Given the description of an element on the screen output the (x, y) to click on. 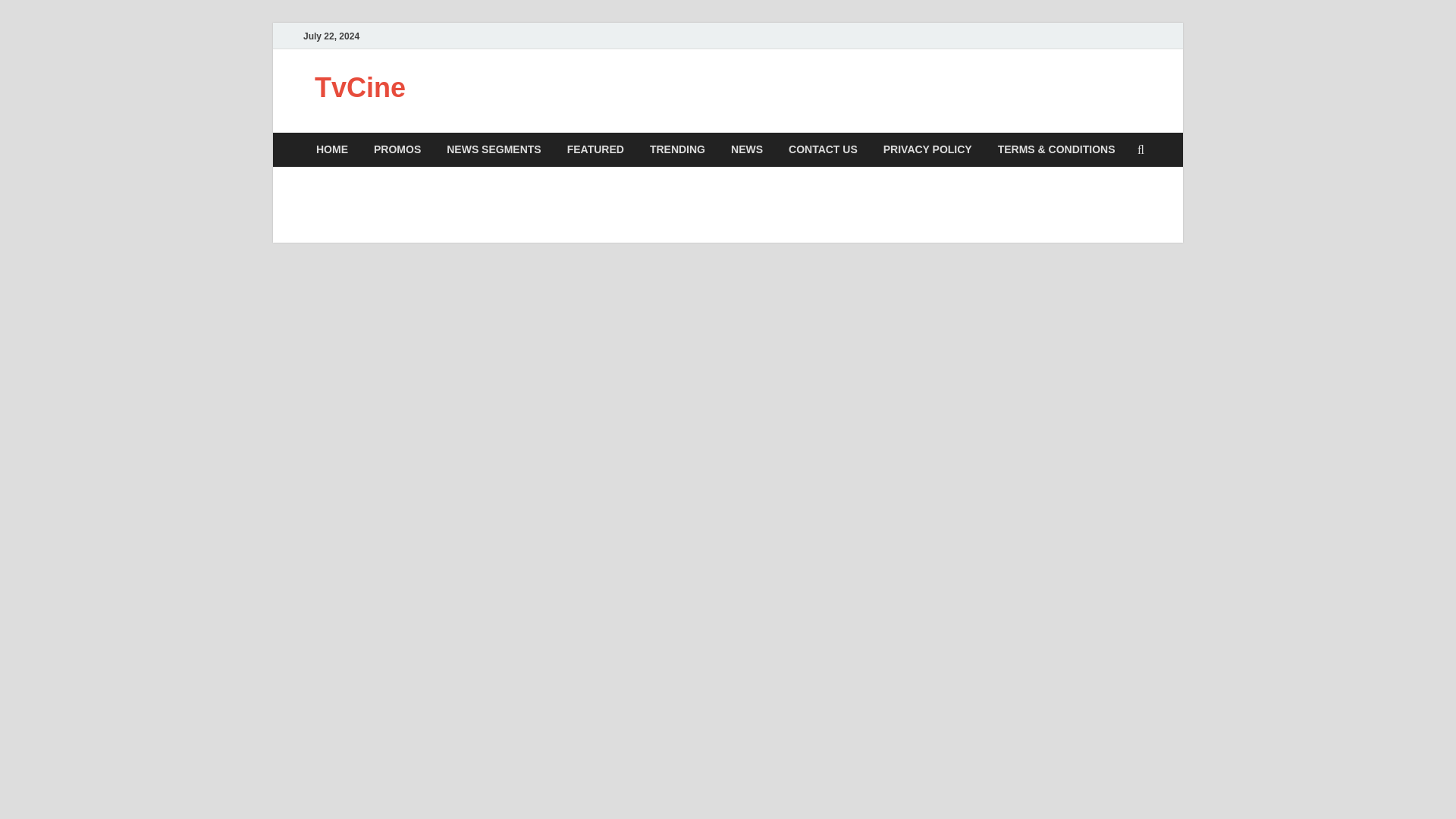
NEWS SEGMENTS (493, 149)
HOME (331, 149)
FEATURED (595, 149)
NEWS (746, 149)
PRIVACY POLICY (927, 149)
PROMOS (397, 149)
TvCine (360, 87)
CONTACT US (823, 149)
TRENDING (677, 149)
